Given the description of an element on the screen output the (x, y) to click on. 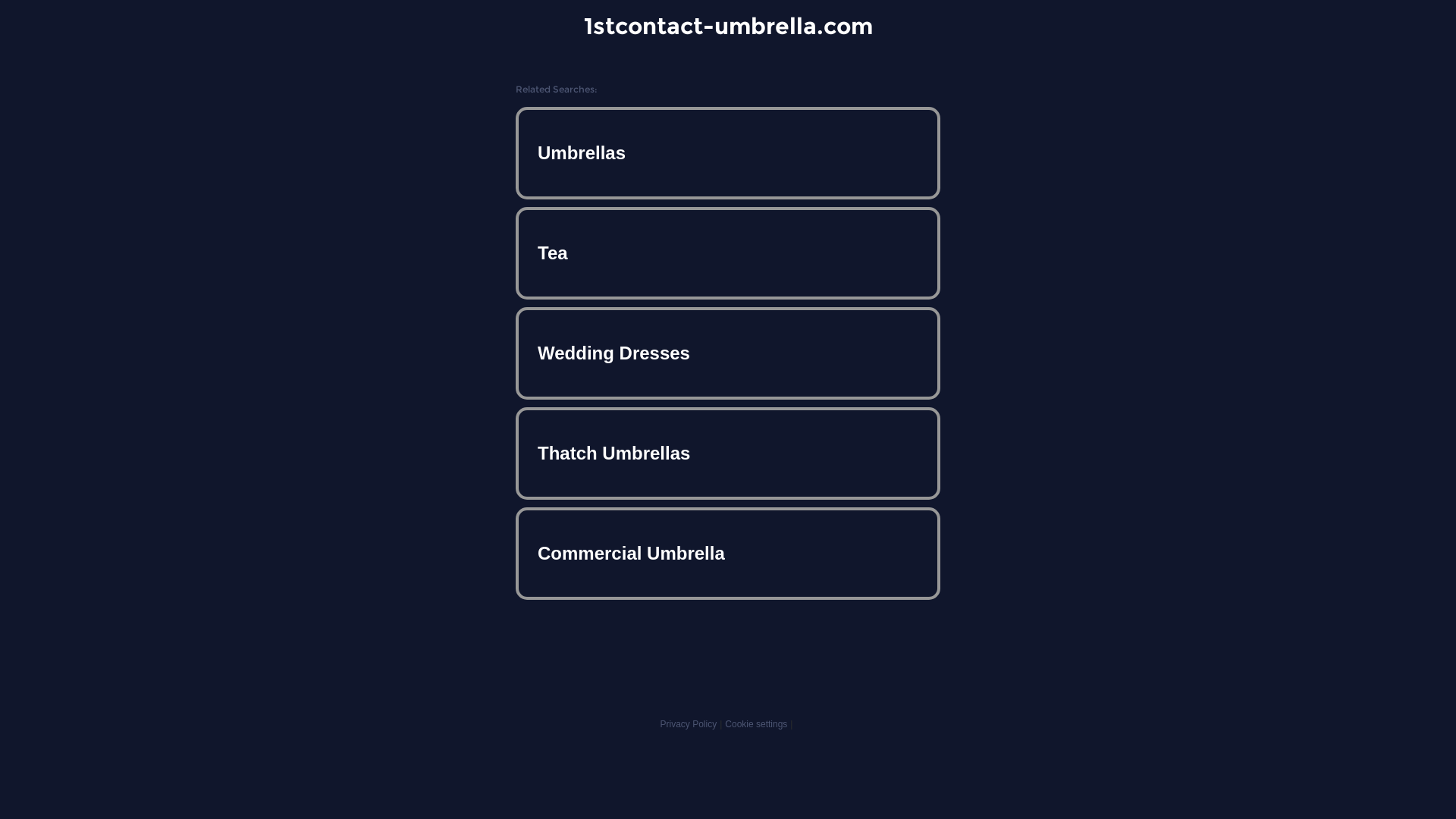
Cookie settings Element type: text (755, 723)
Commercial Umbrella Element type: text (727, 553)
1stcontact-umbrella.com Element type: text (727, 26)
Thatch Umbrellas Element type: text (727, 453)
Wedding Dresses Element type: text (727, 353)
Privacy Policy Element type: text (687, 723)
Tea Element type: text (727, 253)
Umbrellas Element type: text (727, 152)
